Given the description of an element on the screen output the (x, y) to click on. 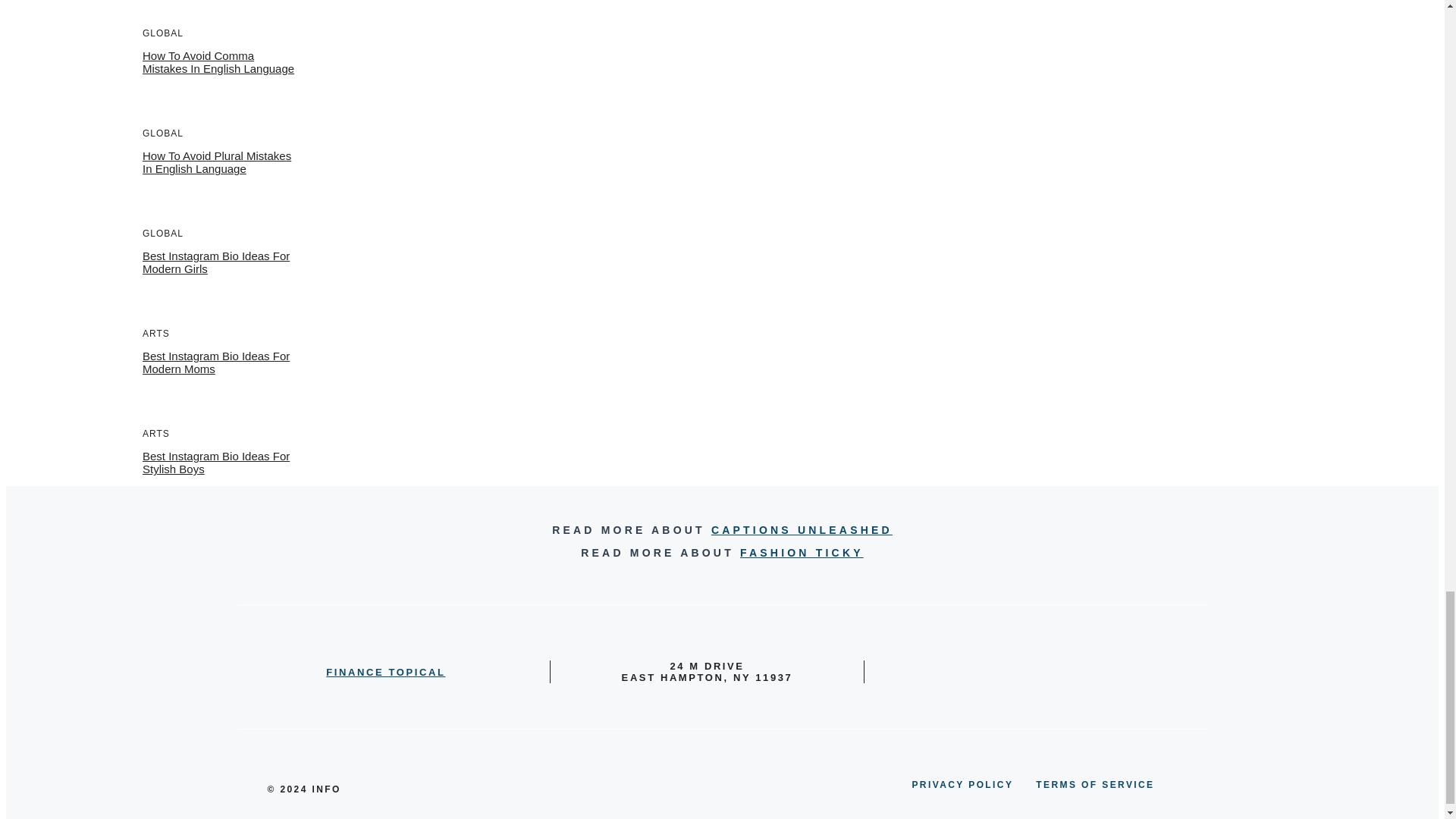
How To Avoid Plural Mistakes In English Language (216, 162)
How To Avoid Comma Mistakes In English Language (218, 62)
FASHION TICKY (801, 552)
Best Instagram Bio Ideas For Modern Girls (215, 262)
Best Instagram Bio Ideas For Stylish Boys (215, 462)
FINANCE TOPICAL (385, 672)
CAPTIONS UNLEASHED (801, 530)
Best Instagram Bio Ideas For Modern Moms (215, 362)
